Given the description of an element on the screen output the (x, y) to click on. 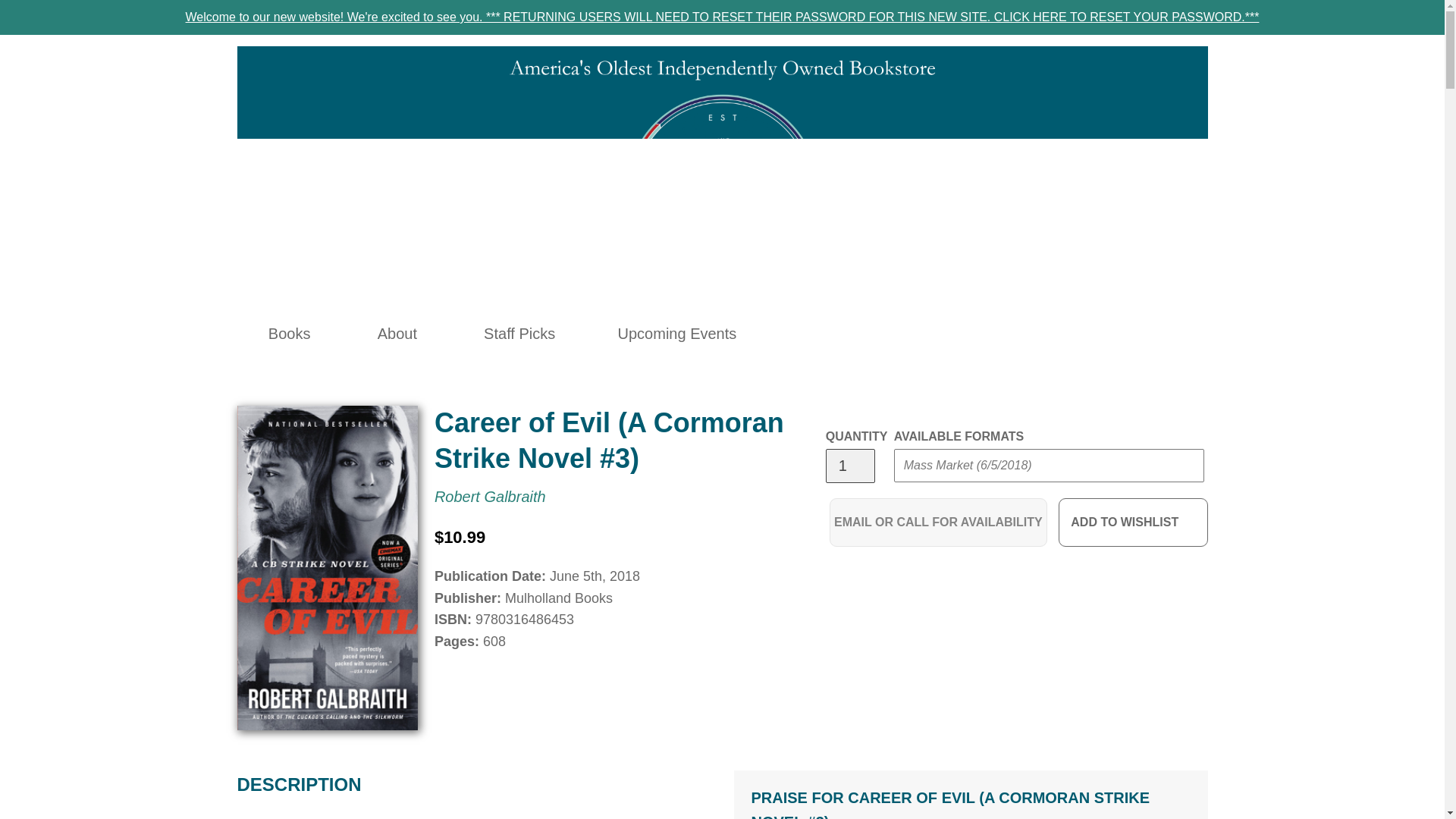
Email or Call for Availability (937, 522)
Upcoming Events (677, 333)
SEARCH (989, 333)
ADD TO WISHLIST (1133, 522)
Log in (1022, 333)
Email or Call for Availability (937, 522)
Books (289, 333)
Wishlists (1055, 333)
Submit (1169, 229)
